Given the description of an element on the screen output the (x, y) to click on. 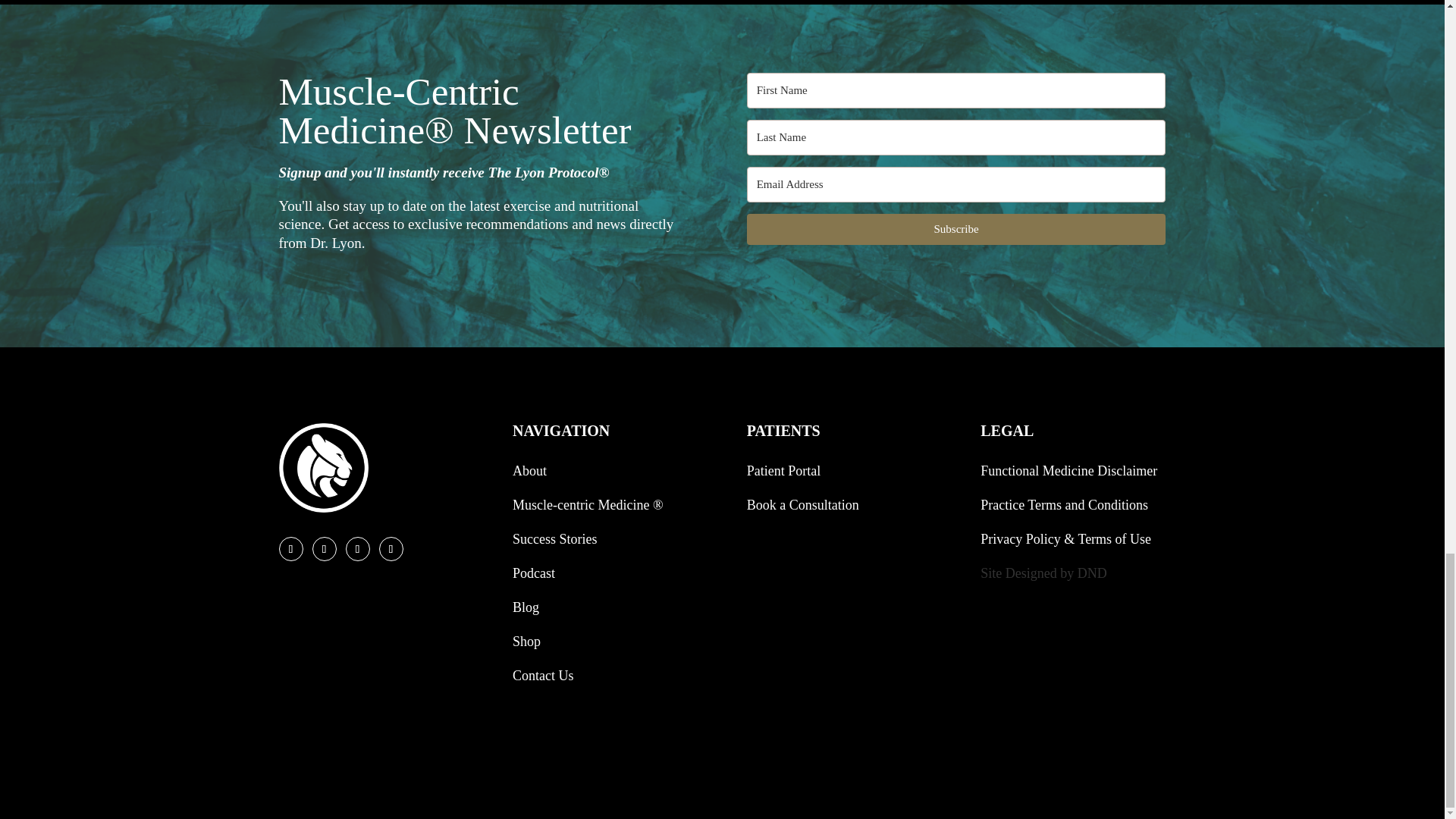
Follow on X (324, 549)
Follow on Facebook (290, 549)
Lion---White-1 (323, 467)
Follow on Youtube (390, 549)
Follow on Instagram (357, 549)
